Given the description of an element on the screen output the (x, y) to click on. 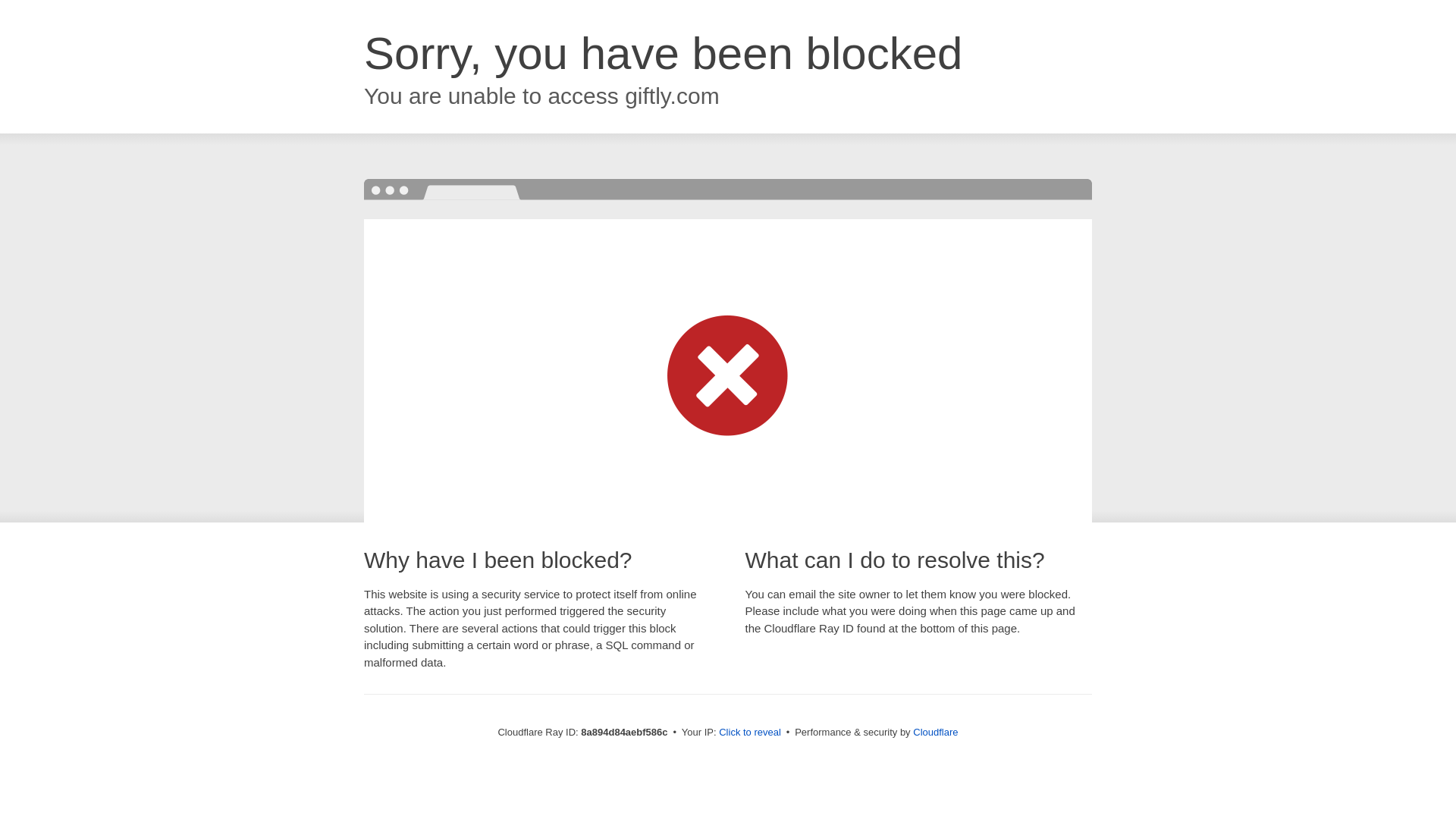
Cloudflare (935, 731)
Click to reveal (749, 732)
